Given the description of an element on the screen output the (x, y) to click on. 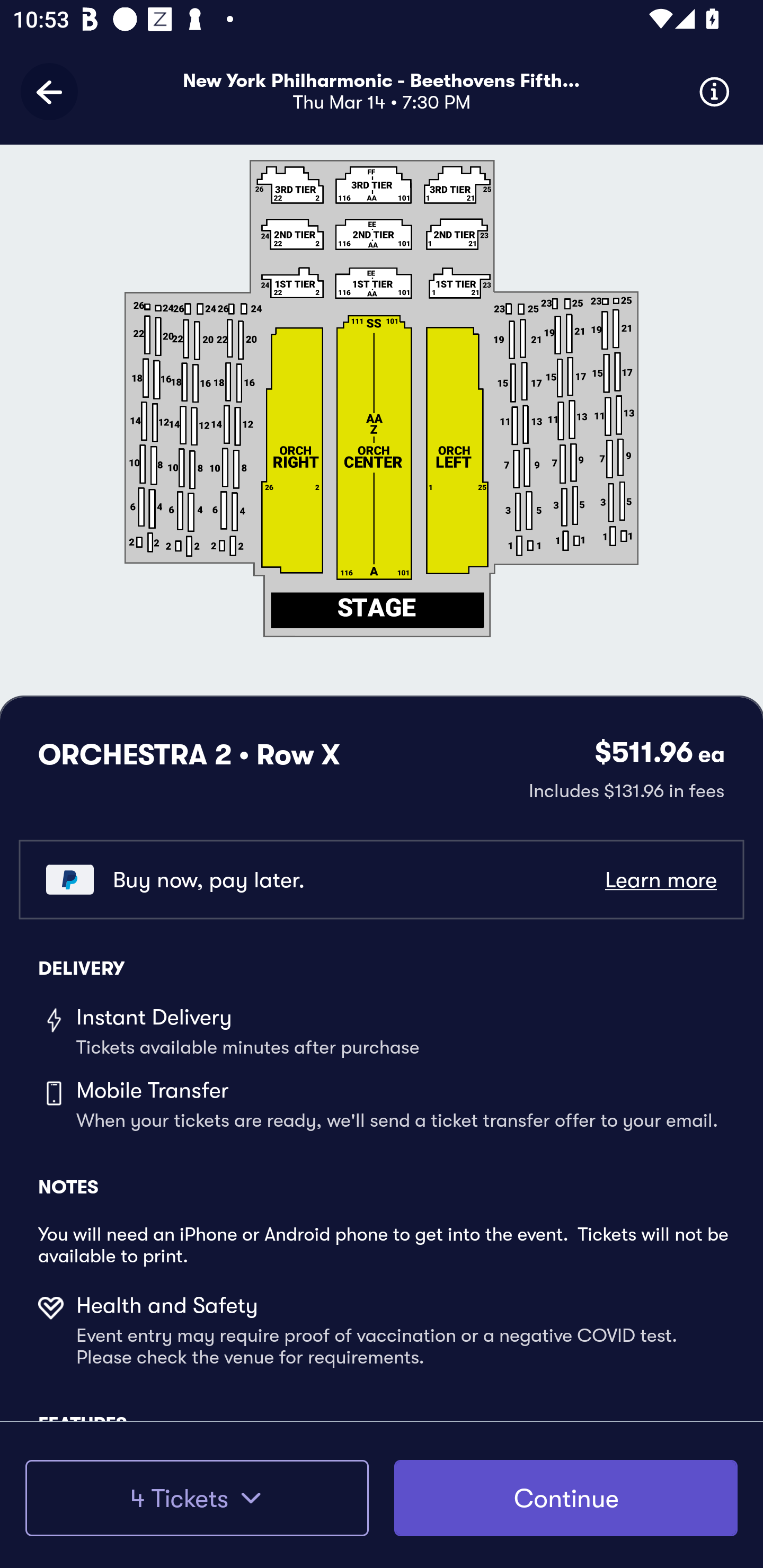
Learn more (660, 880)
4 Tickets (196, 1497)
Continue (565, 1497)
